Given the description of an element on the screen output the (x, y) to click on. 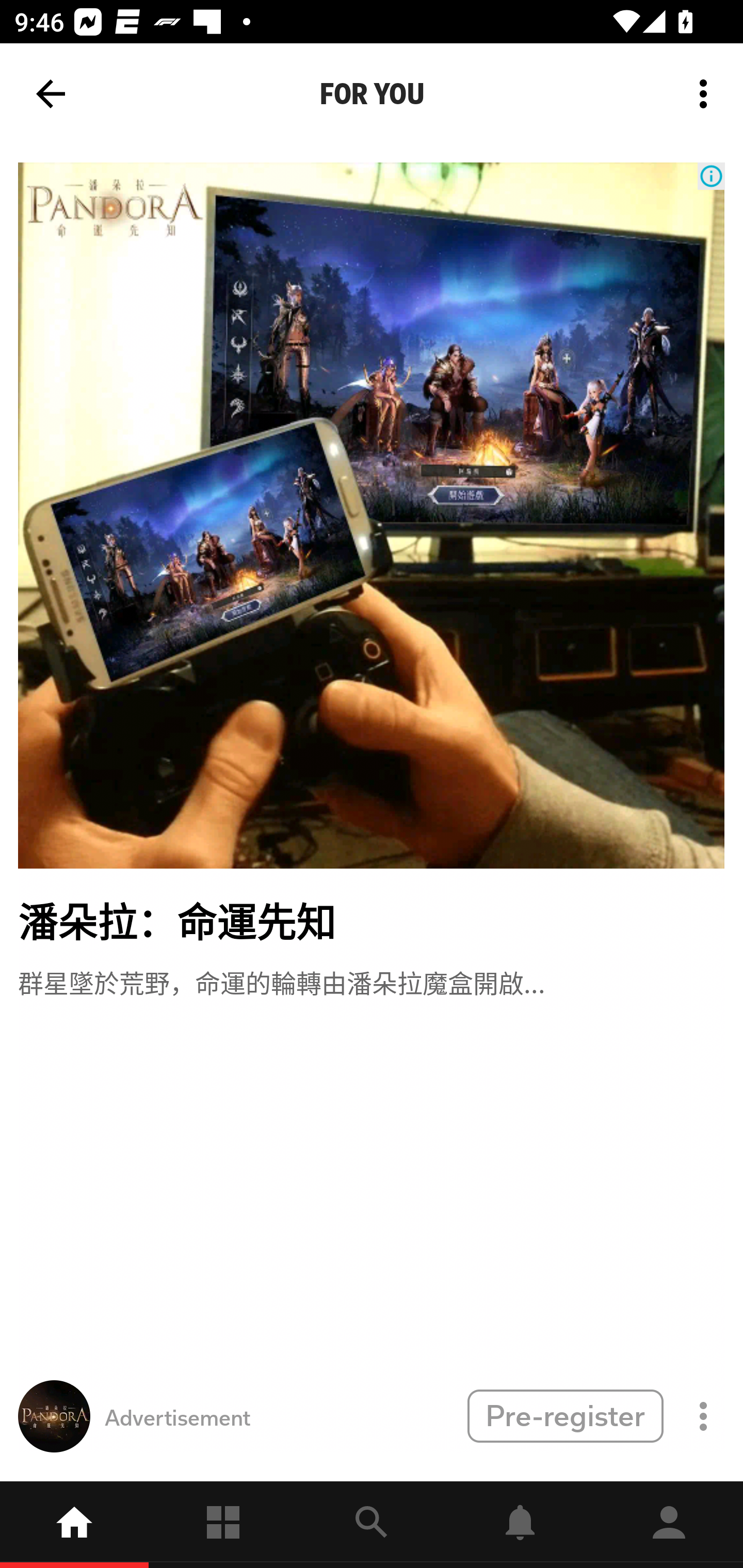
Back (50, 93)
FOR YOU (371, 93)
More options (706, 93)
Ad Choices Icon (711, 176)
群星墜於荒野，命運的輪轉由潘朵拉魔盒開啟... (281, 981)
Pre-register (565, 1415)
home (74, 1524)
Following (222, 1524)
explore (371, 1524)
Notifications (519, 1524)
Profile (668, 1524)
